Given the description of an element on the screen output the (x, y) to click on. 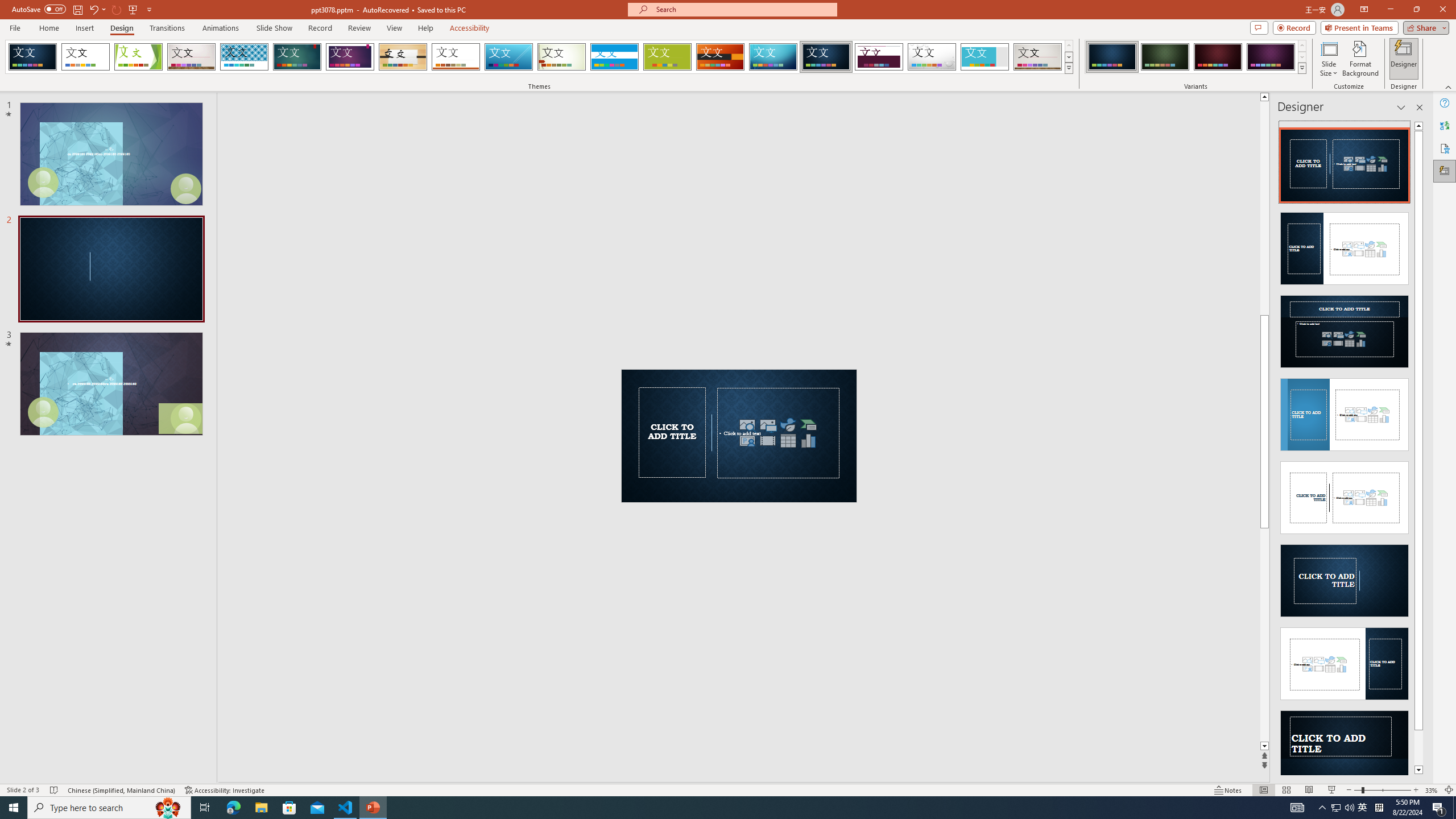
Droplet (931, 56)
Recommended Design: Design Idea (1344, 161)
Organic (403, 56)
Insert Chart (808, 440)
